Given the description of an element on the screen output the (x, y) to click on. 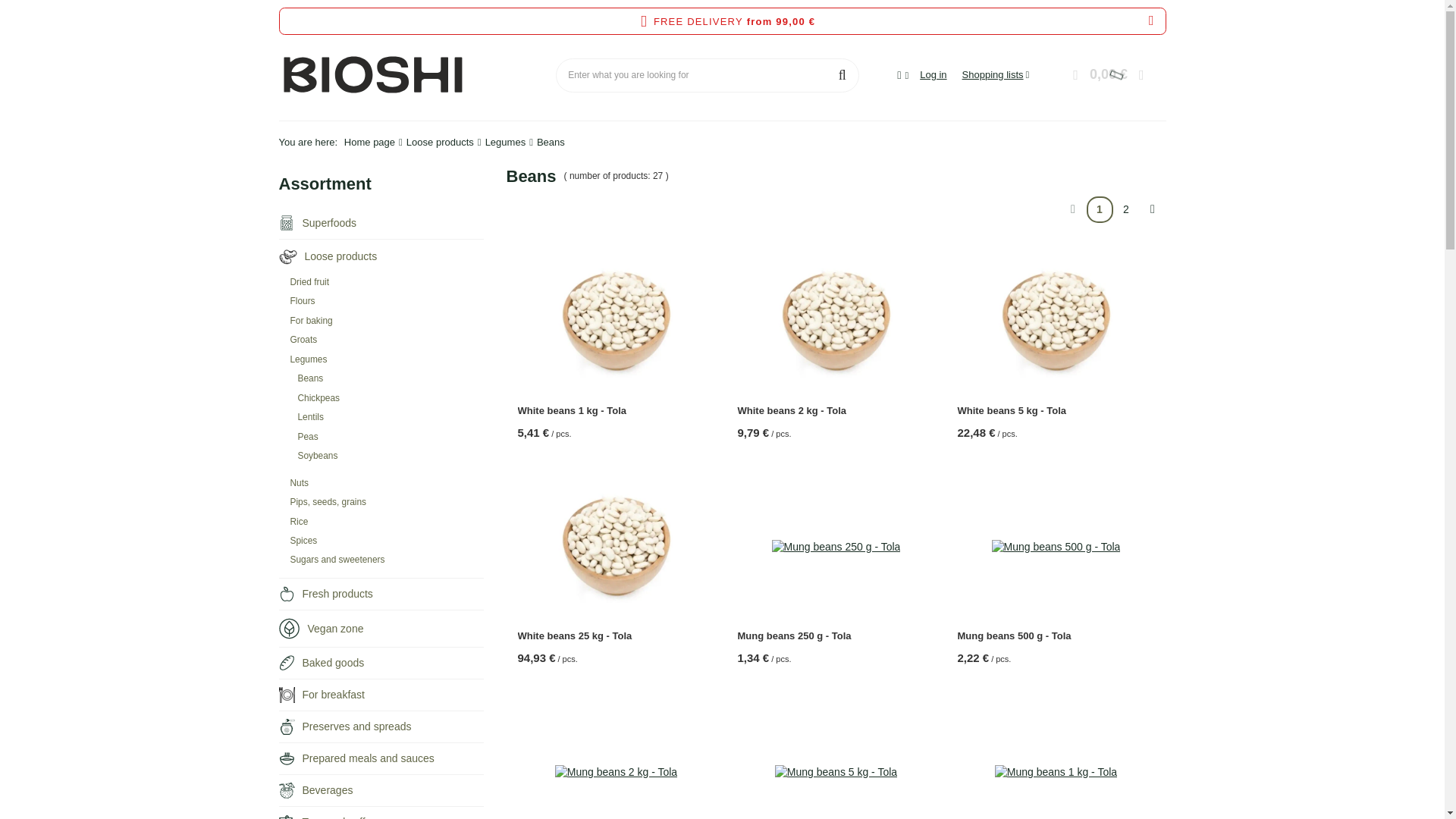
Log in (933, 74)
Prepared meals and sauces (381, 757)
Home page (368, 142)
Superfoods (381, 223)
For breakfast (287, 694)
For breakfast (381, 694)
Fresh products (381, 593)
Baked goods (287, 662)
Shopping lists (995, 74)
Loose products (288, 256)
Legumes (504, 142)
Preserves and spreads (287, 726)
Loose products (381, 255)
Vegan zone (381, 628)
Vegan zone (289, 628)
